Given the description of an element on the screen output the (x, y) to click on. 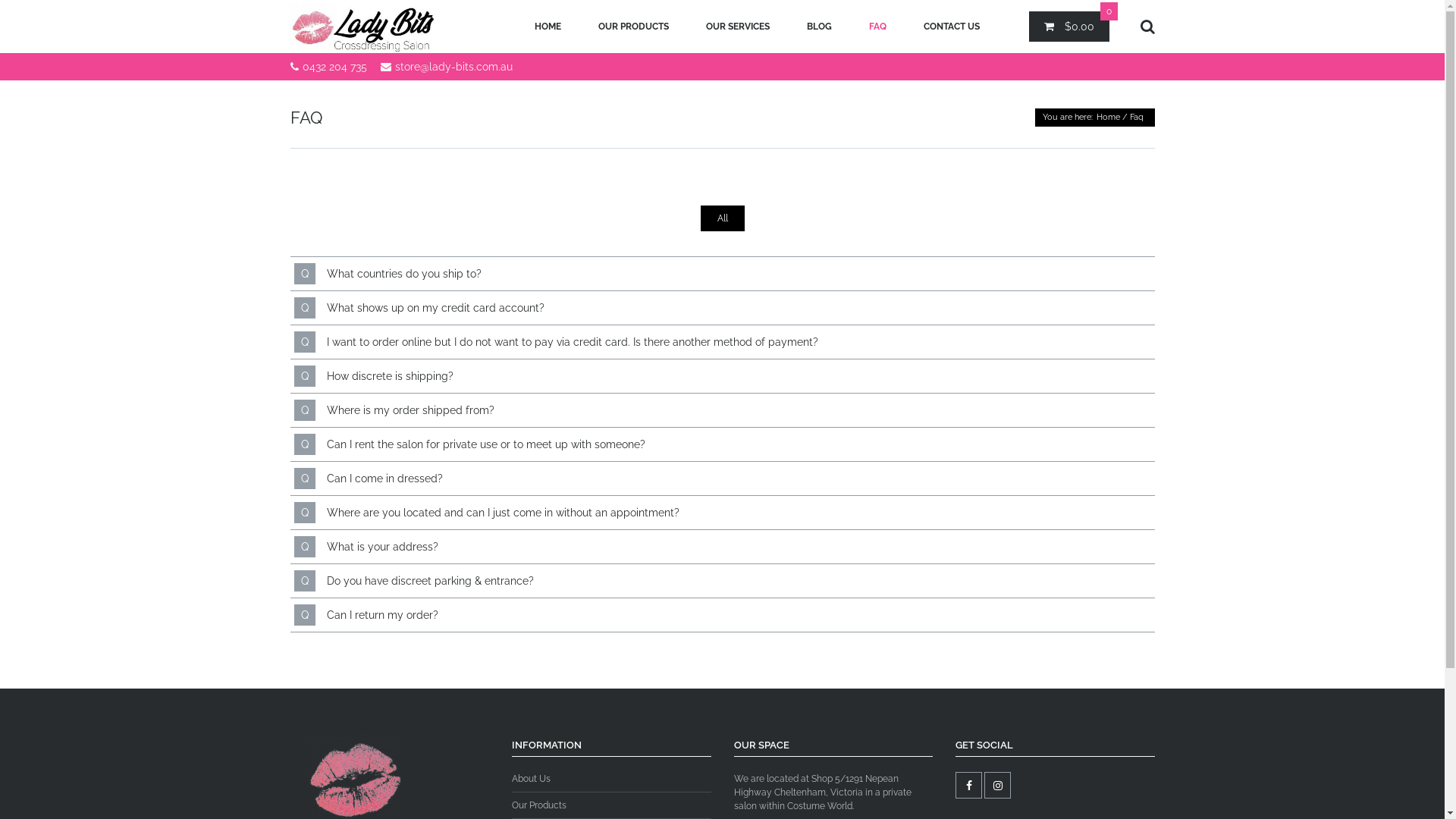
All Element type: text (722, 218)
BLOG Element type: text (818, 26)
OUR PRODUCTS Element type: text (633, 26)
Home Element type: text (1108, 117)
SKIP TO SECONDARY CONTENT Element type: text (583, 26)
SKIP TO PRIMARY CONTENT Element type: text (575, 26)
OUR SERVICES Element type: text (737, 26)
CONTACT US Element type: text (950, 26)
HOME Element type: text (547, 26)
Ladybits Element type: hover (364, 26)
FAQ Element type: text (876, 26)
store@lady-bits.com.au Element type: text (452, 66)
About Us Element type: text (611, 781)
